Given the description of an element on the screen output the (x, y) to click on. 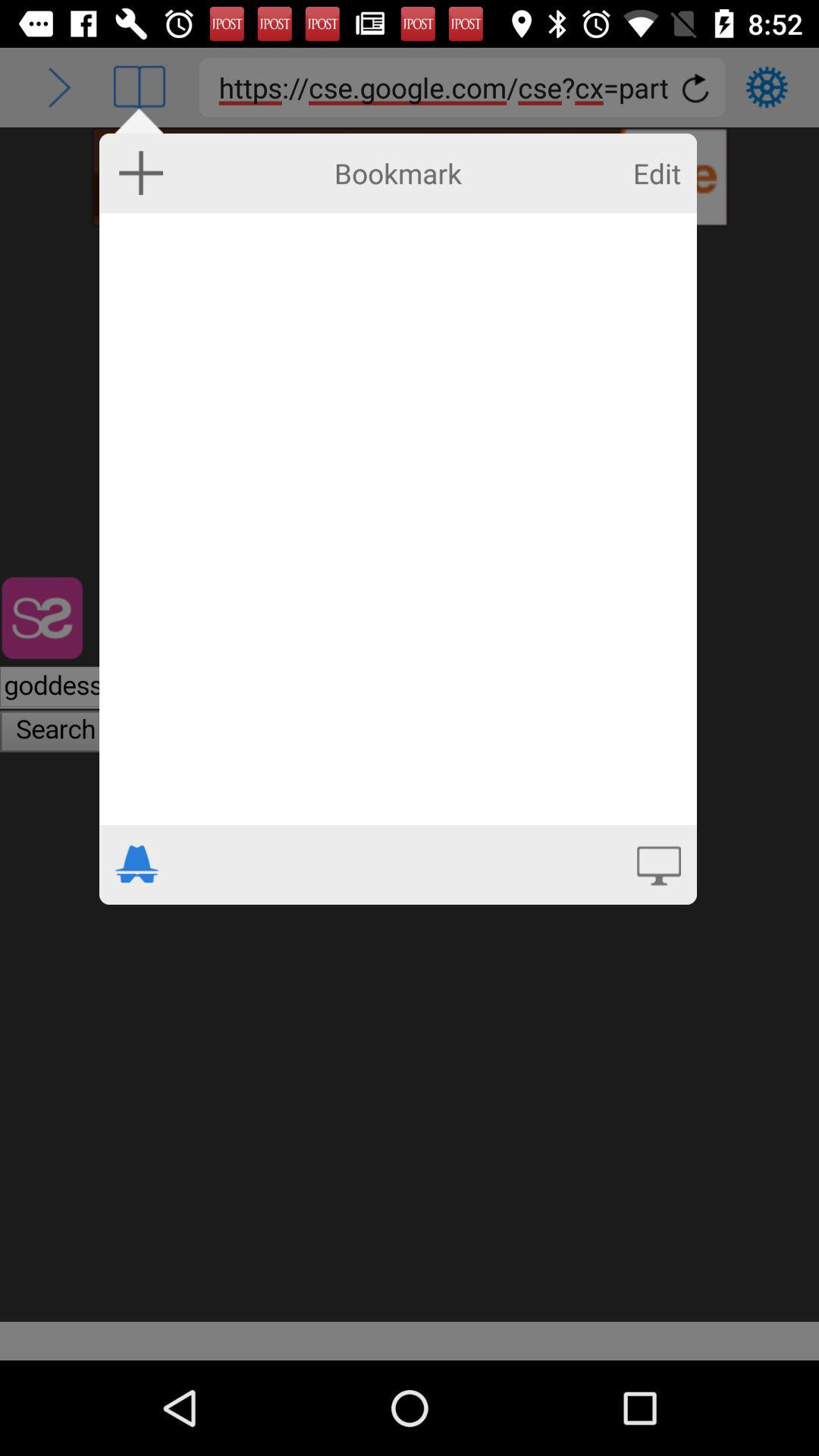
turn off icon to the left of bookmark (141, 172)
